Given the description of an element on the screen output the (x, y) to click on. 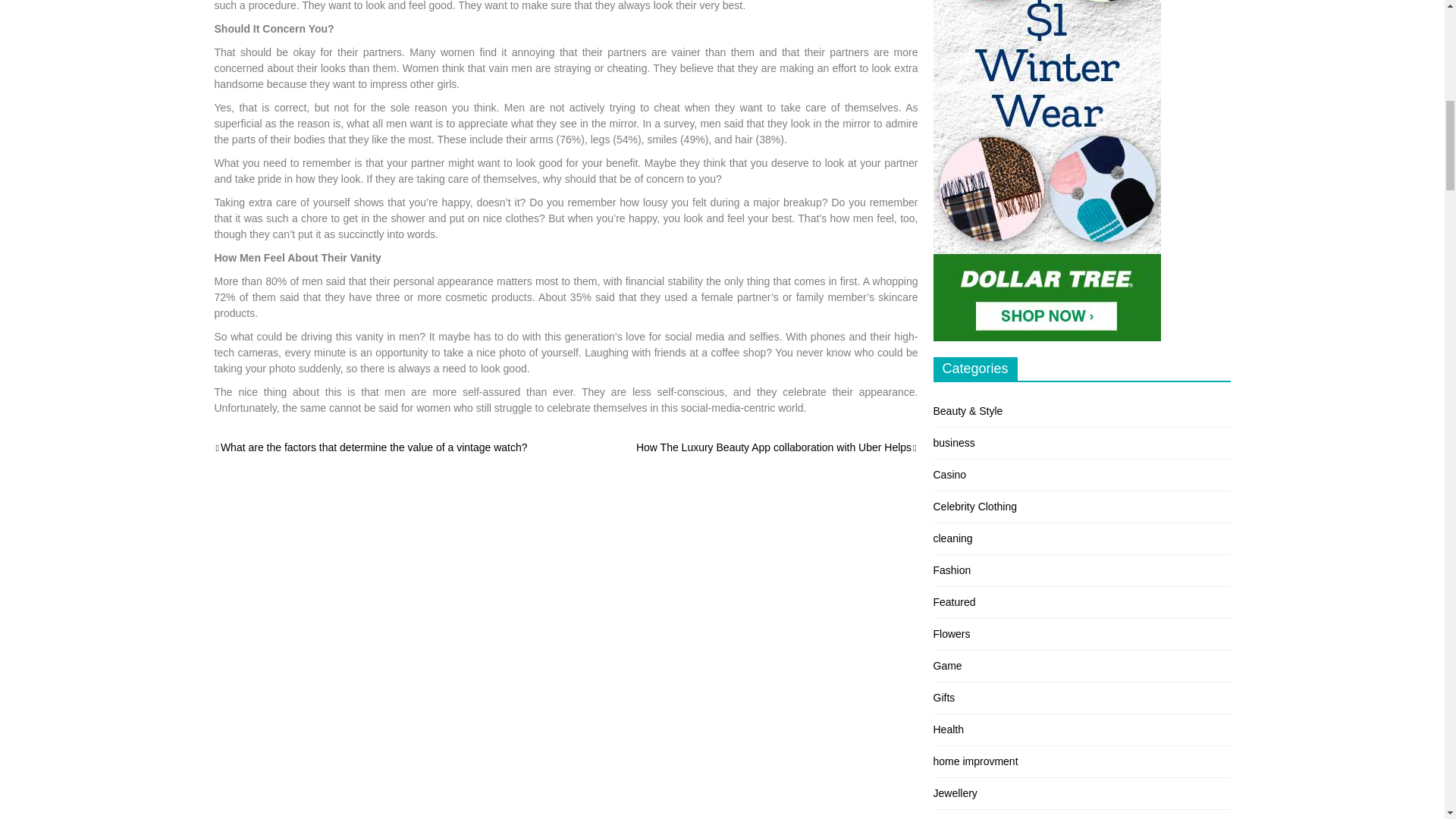
Gifts (944, 697)
Celebrity Clothing (974, 506)
Health (947, 729)
cleaning (952, 538)
business (953, 442)
home improvment (975, 761)
Flowers (951, 633)
Fashion (952, 570)
Casino (949, 474)
Game (946, 665)
Featured (954, 602)
How The Luxury Beauty App collaboration with Uber Helps (777, 447)
Jewellery (954, 793)
